Given the description of an element on the screen output the (x, y) to click on. 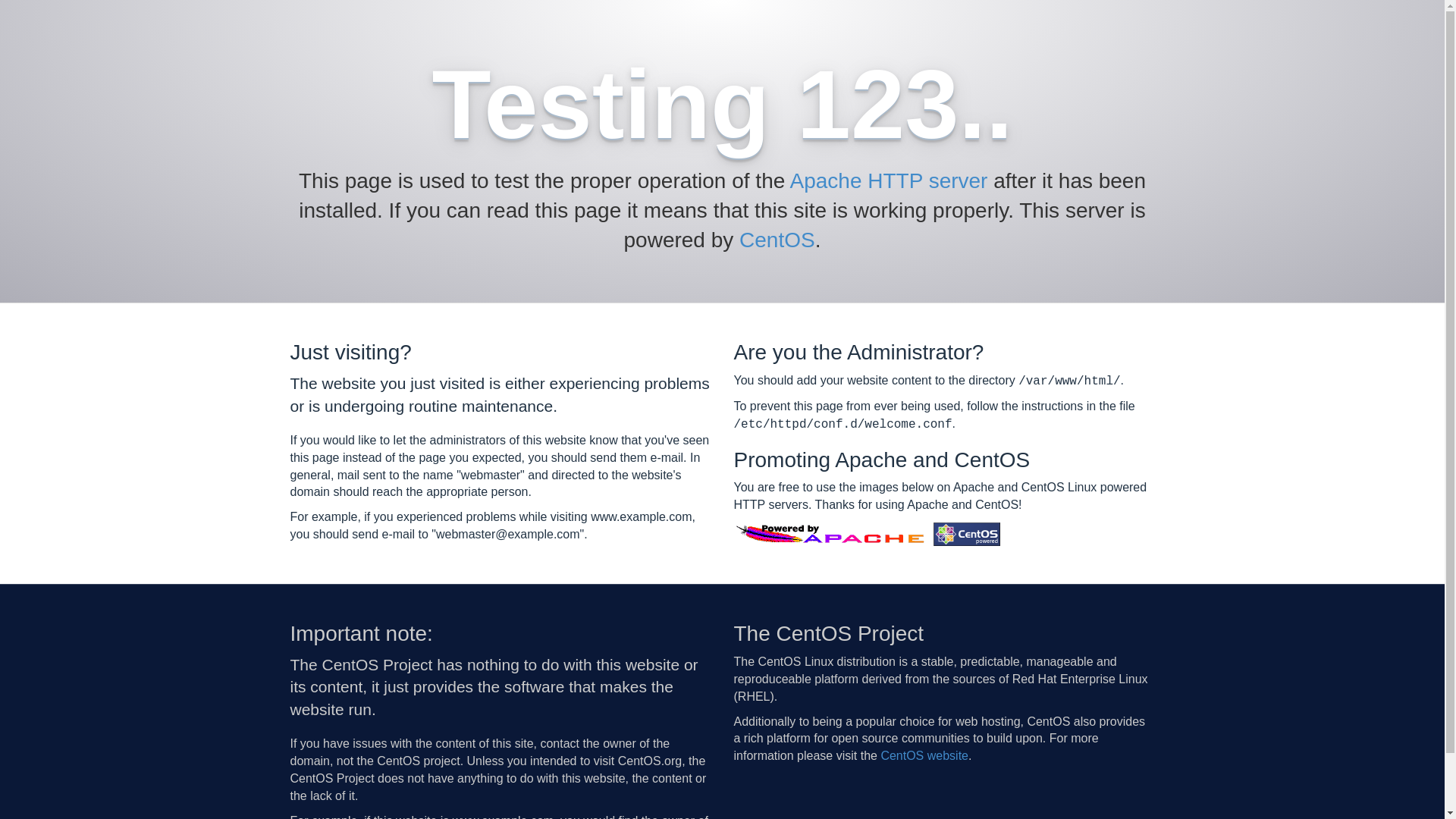
Apache HTTP server Element type: text (889, 180)
CentOS Element type: text (777, 239)
CentOS website Element type: text (924, 755)
